Given the description of an element on the screen output the (x, y) to click on. 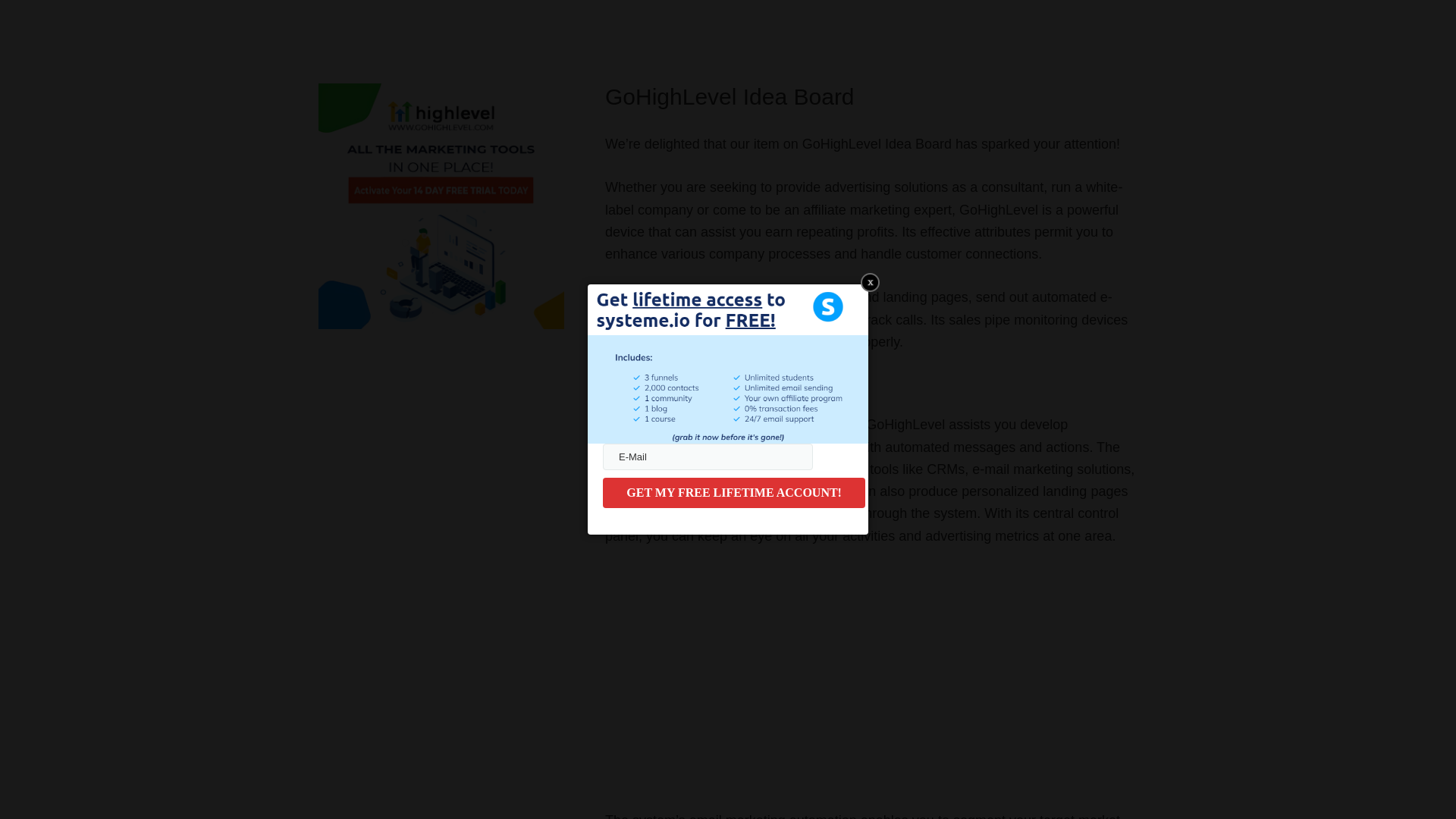
GET MY FREE LIFETIME ACCOUNT! (733, 492)
GET MY FREE LIFETIME ACCOUNT! (733, 492)
Welcome To HighLevel (794, 675)
